Given the description of an element on the screen output the (x, y) to click on. 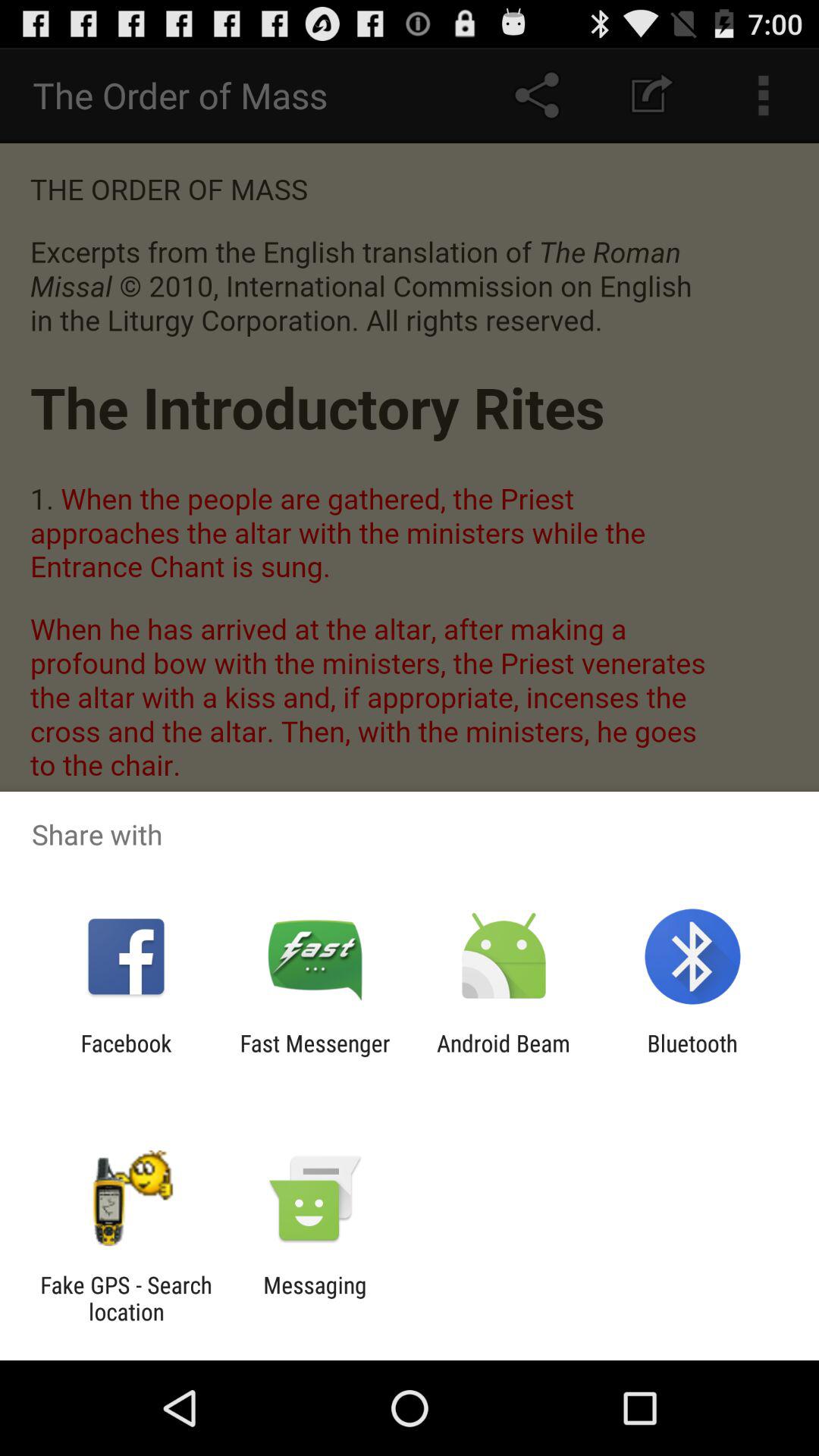
tap the icon next to facebook item (315, 1056)
